Given the description of an element on the screen output the (x, y) to click on. 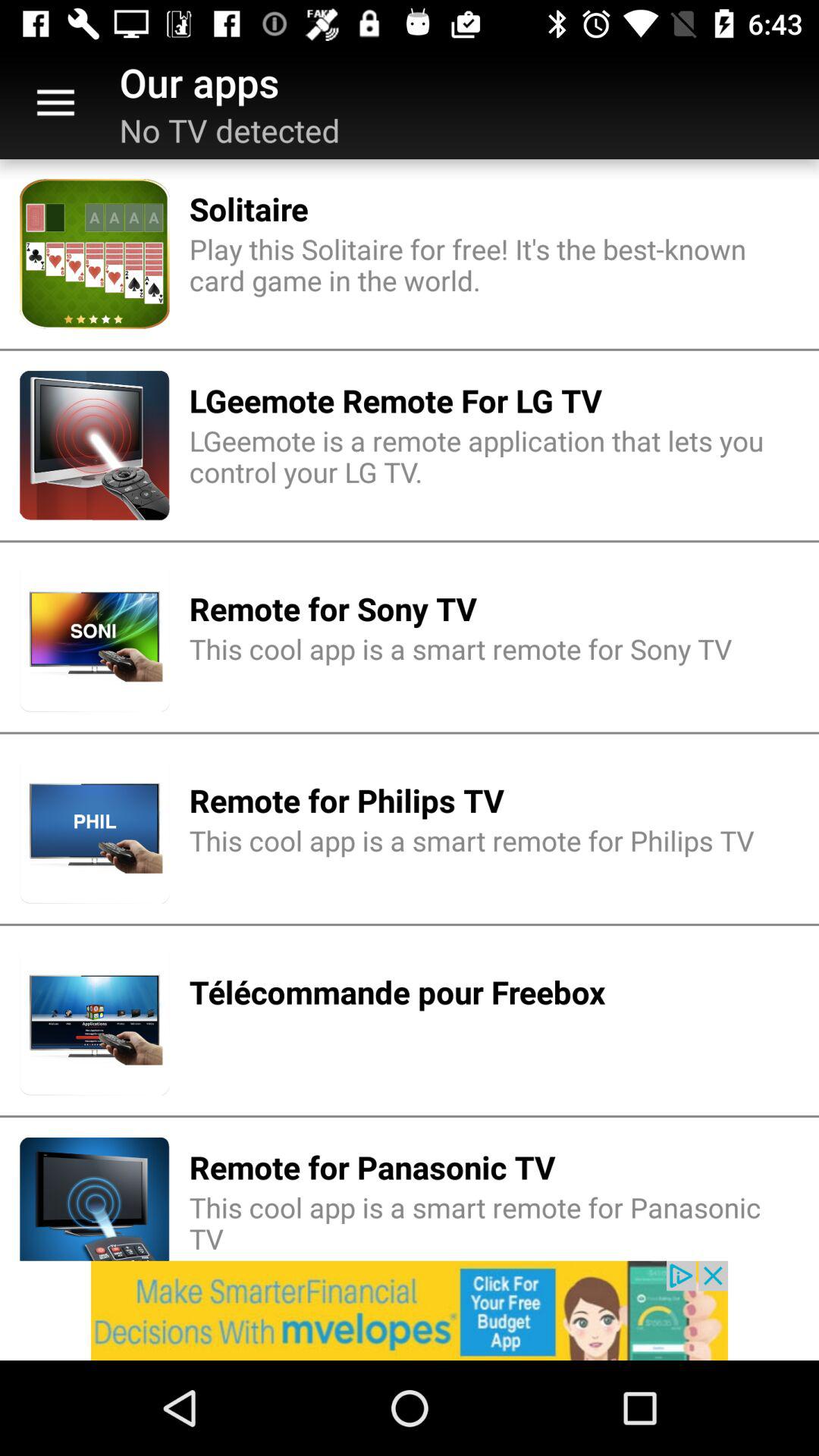
to see about add (409, 1310)
